Given the description of an element on the screen output the (x, y) to click on. 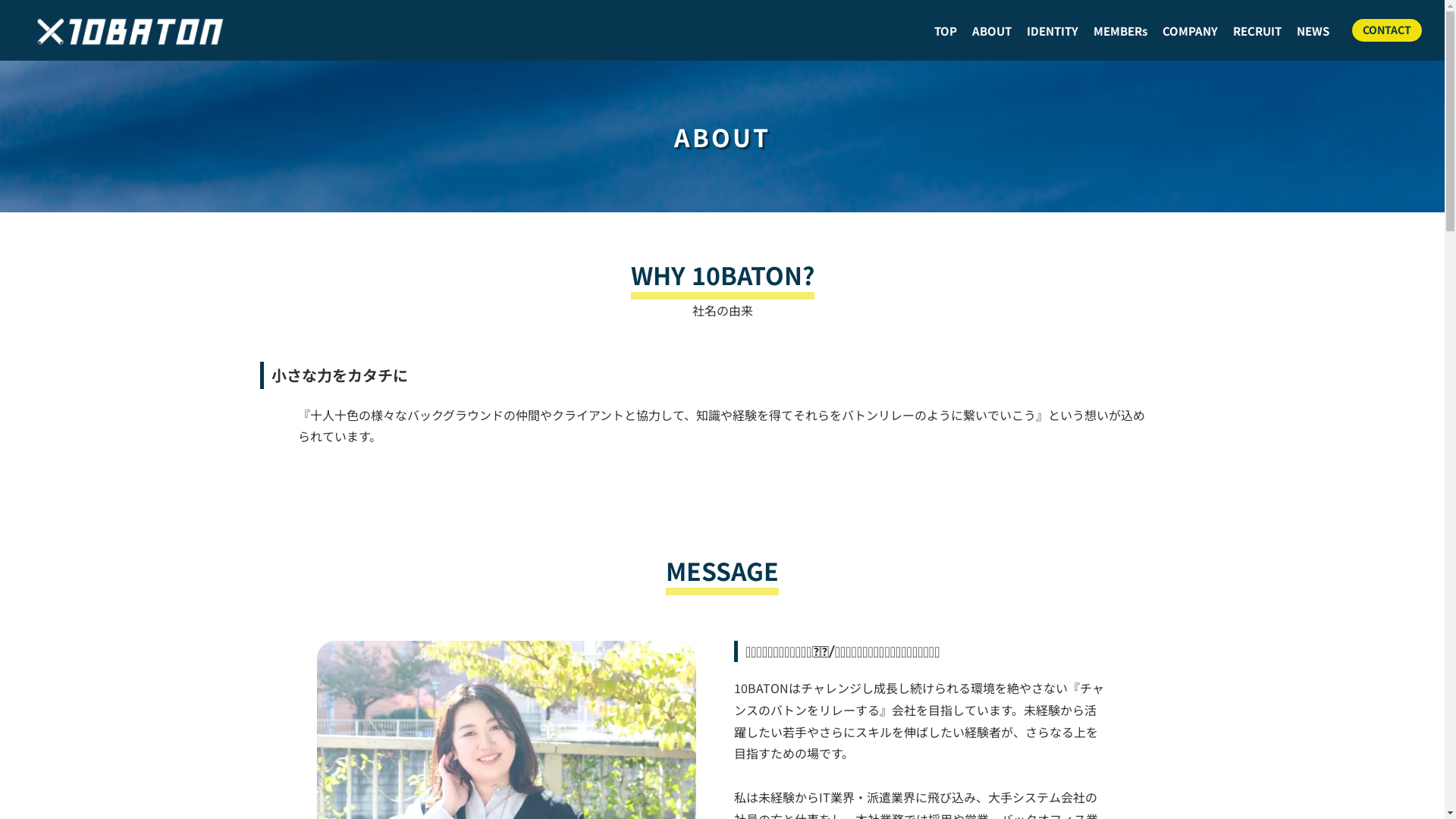
IDENTITY Element type: text (1052, 30)
COMPANY Element type: text (1189, 30)
RECRUIT Element type: text (1257, 30)
MEMBERs Element type: text (1119, 30)
NEWS Element type: text (1312, 30)
ABOUT Element type: text (991, 30)
TOP Element type: text (945, 30)
CONTACT Element type: text (1386, 29)
